Given the description of an element on the screen output the (x, y) to click on. 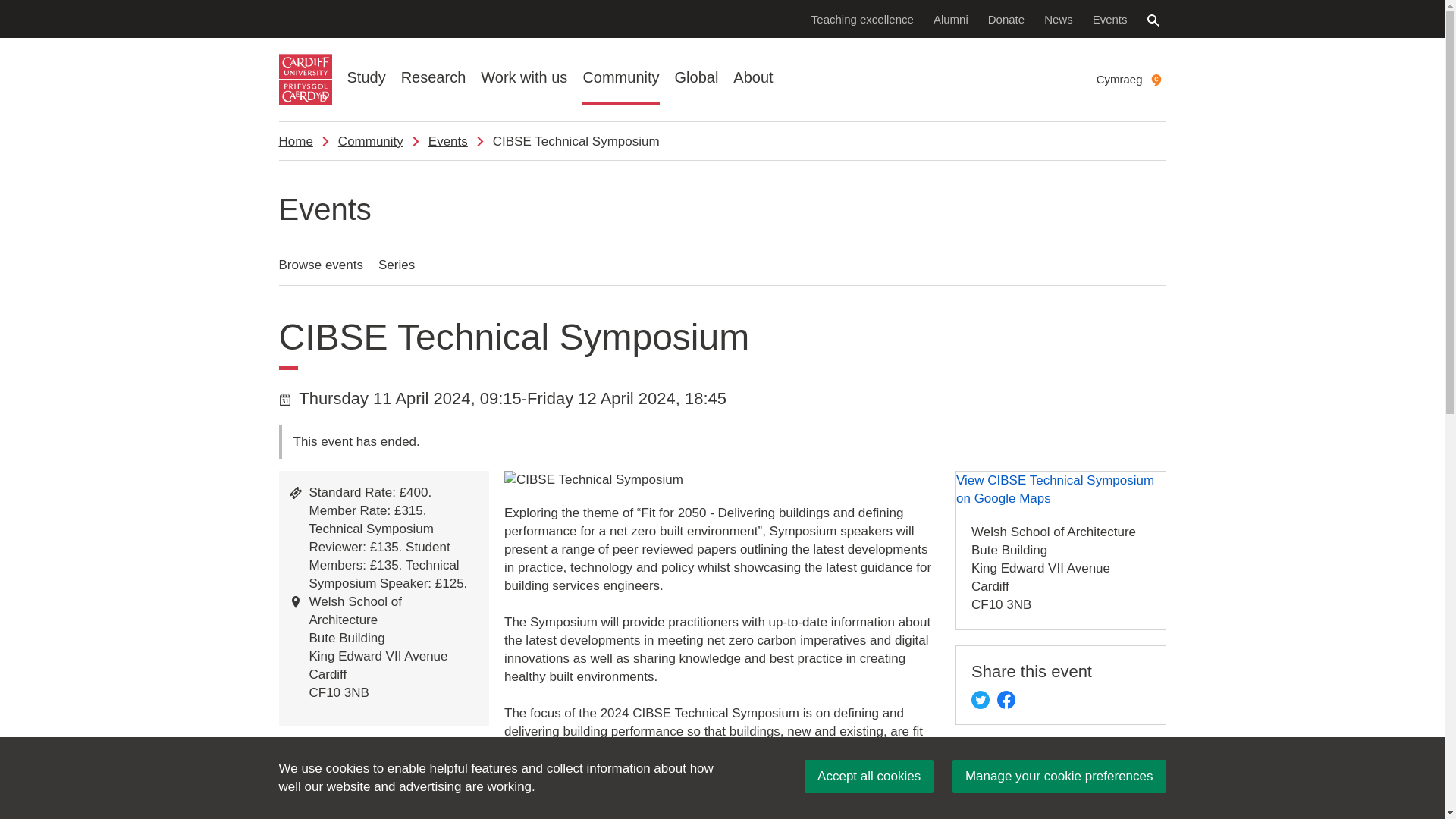
Twitter (980, 700)
Accept all cookies (869, 776)
News (1058, 19)
Email (285, 790)
Calendar (285, 399)
Ticket (295, 492)
Events (1109, 19)
Alumni (951, 19)
Cardiff University logo (305, 79)
Search (1152, 20)
Manage your cookie preferences (1059, 776)
Teaching excellence (862, 19)
facebook (1005, 700)
Cardiff University logo (305, 79)
Marker (295, 602)
